Given the description of an element on the screen output the (x, y) to click on. 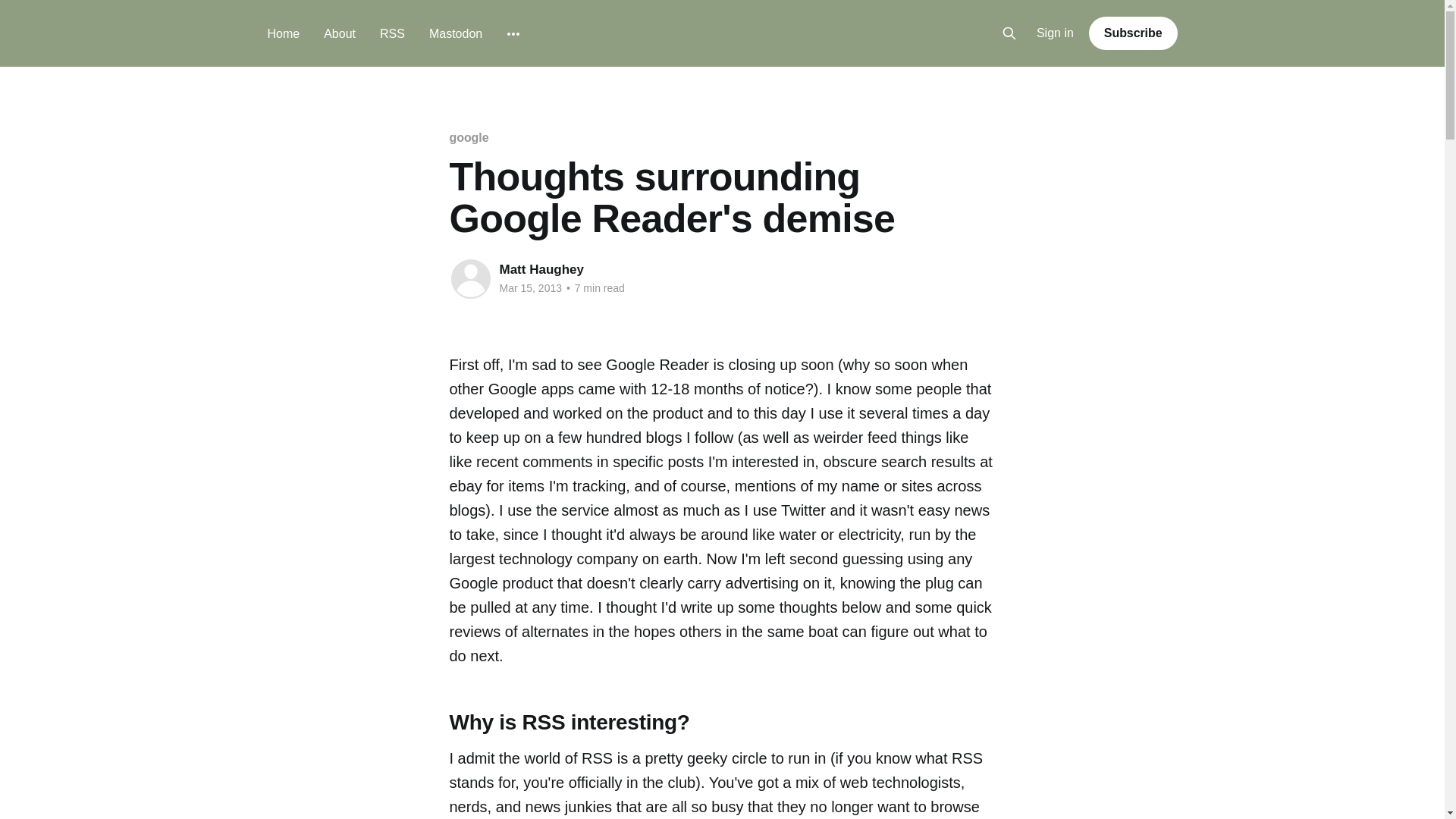
Home (282, 33)
Mastodon (455, 33)
Subscribe (1133, 32)
google (467, 137)
Sign in (1055, 33)
About (339, 33)
RSS (392, 33)
Matt Haughey (541, 269)
